Given the description of an element on the screen output the (x, y) to click on. 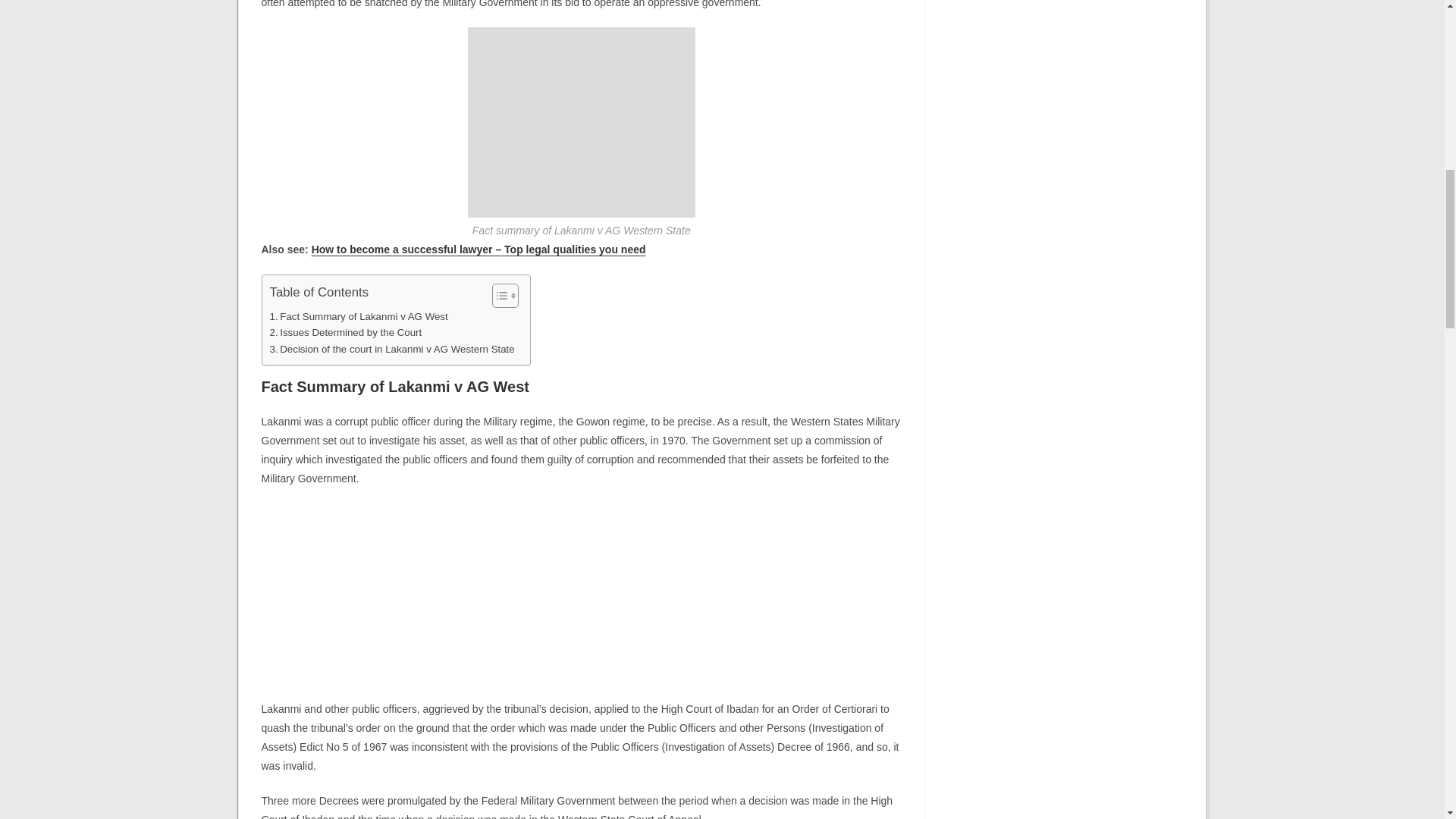
Fact Summary of Lakanmi v AG West (358, 316)
Issues Determined by the Court (345, 332)
Fact Summary of Lakanmi v AG West (358, 316)
Decision of the court in Lakanmi v AG Western State (392, 349)
Decision of the court in Lakanmi v AG Western State (392, 349)
Issues Determined by the Court (345, 332)
